Given the description of an element on the screen output the (x, y) to click on. 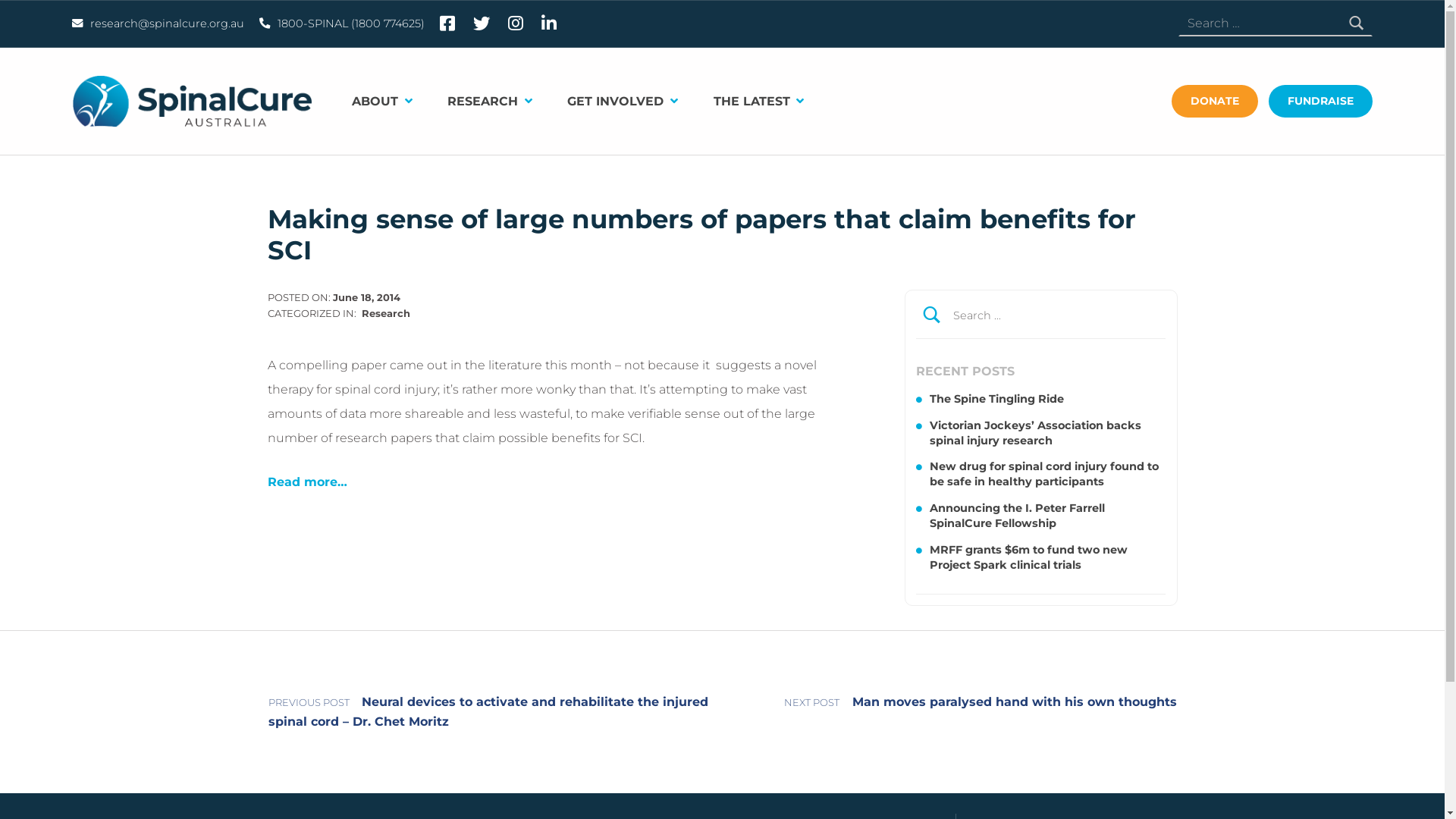
THE LATEST Element type: text (767, 101)
DONATE Element type: text (1214, 100)
Research Element type: text (385, 313)
SPINALCURE AUSTRALIA Element type: text (320, 81)
GET INVOLVED Element type: text (631, 101)
Skip back to main navigation Element type: text (266, 493)
research@spinalcure.org.au Element type: text (158, 23)
Search Element type: text (1149, 315)
ABOUT Element type: text (391, 101)
FUNDRAISE Element type: text (1320, 100)
RESEARCH Element type: text (498, 101)
NEXT POST Man moves paralysed hand with his own thoughts Element type: text (949, 701)
Announcing the I. Peter Farrell SpinalCure Fellowship Element type: text (1016, 515)
1800-SPINAL (1800 774625) Element type: text (341, 23)
The Spine Tingling Ride Element type: text (996, 398)
Search Element type: text (1356, 23)
